Given the description of an element on the screen output the (x, y) to click on. 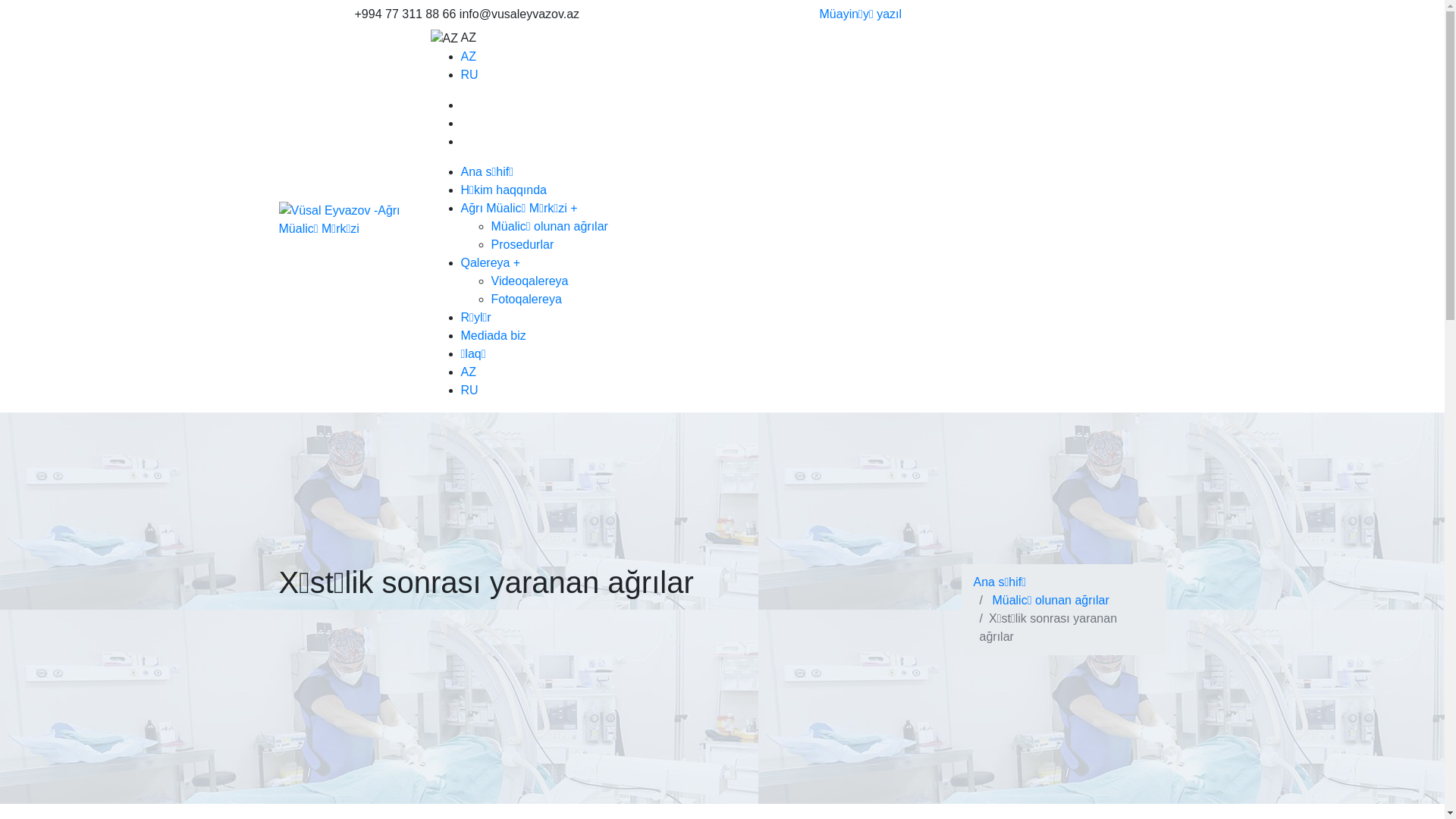
Qalereya + Element type: text (490, 262)
Prosedurlar Element type: text (522, 244)
Videoqalereya Element type: text (529, 280)
RU Element type: text (469, 389)
Mediada biz Element type: text (493, 335)
RU Element type: text (469, 74)
AZ Element type: text (468, 56)
AZ Element type: text (468, 371)
Fotoqalereya Element type: text (526, 298)
